Given the description of an element on the screen output the (x, y) to click on. 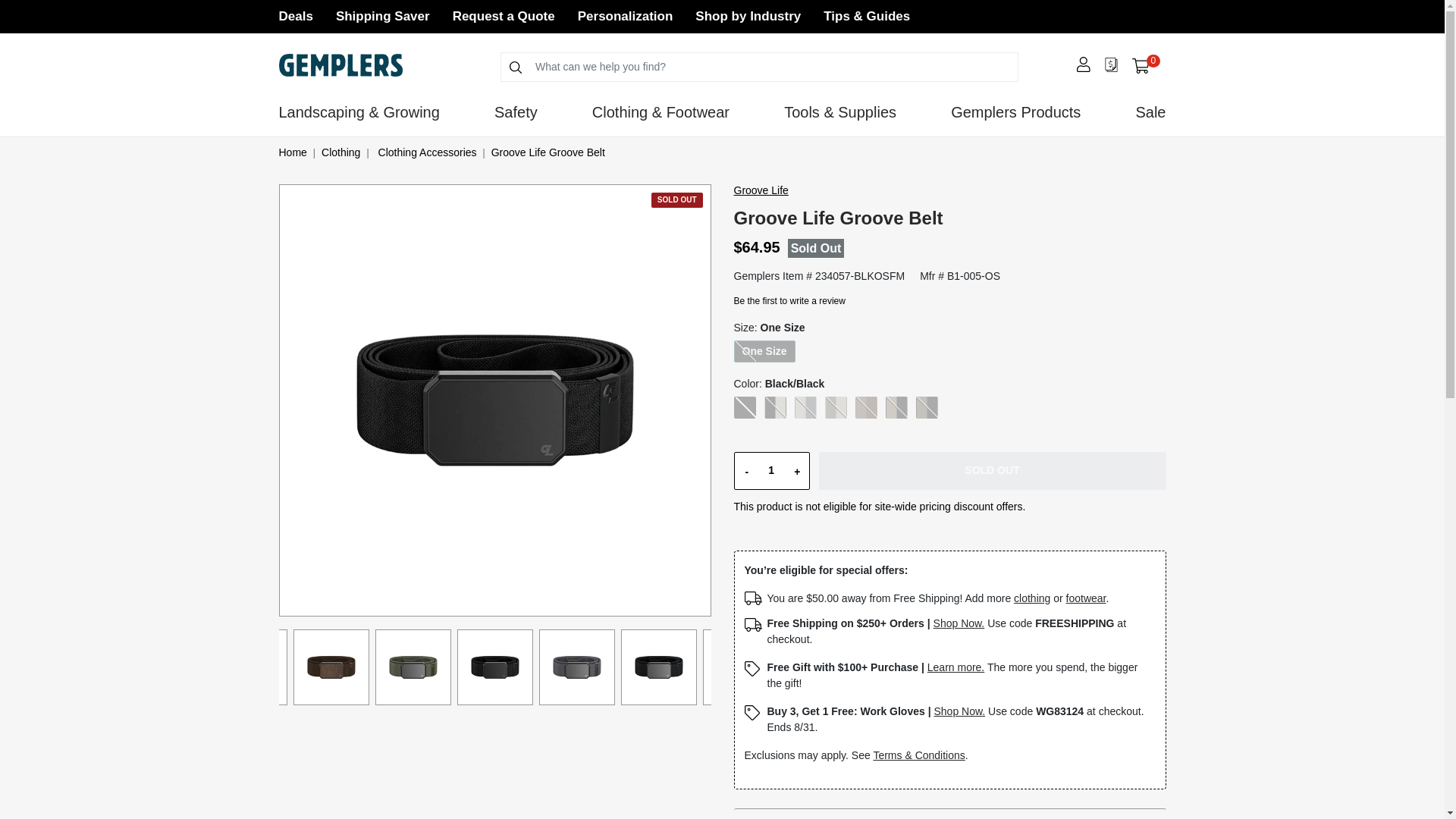
Shopping Cart (1141, 66)
Deals (296, 16)
Shop by Industry (747, 16)
Personalization (625, 16)
1 (1145, 65)
Shipping Saver (770, 470)
Request a Quote (382, 16)
